Given the description of an element on the screen output the (x, y) to click on. 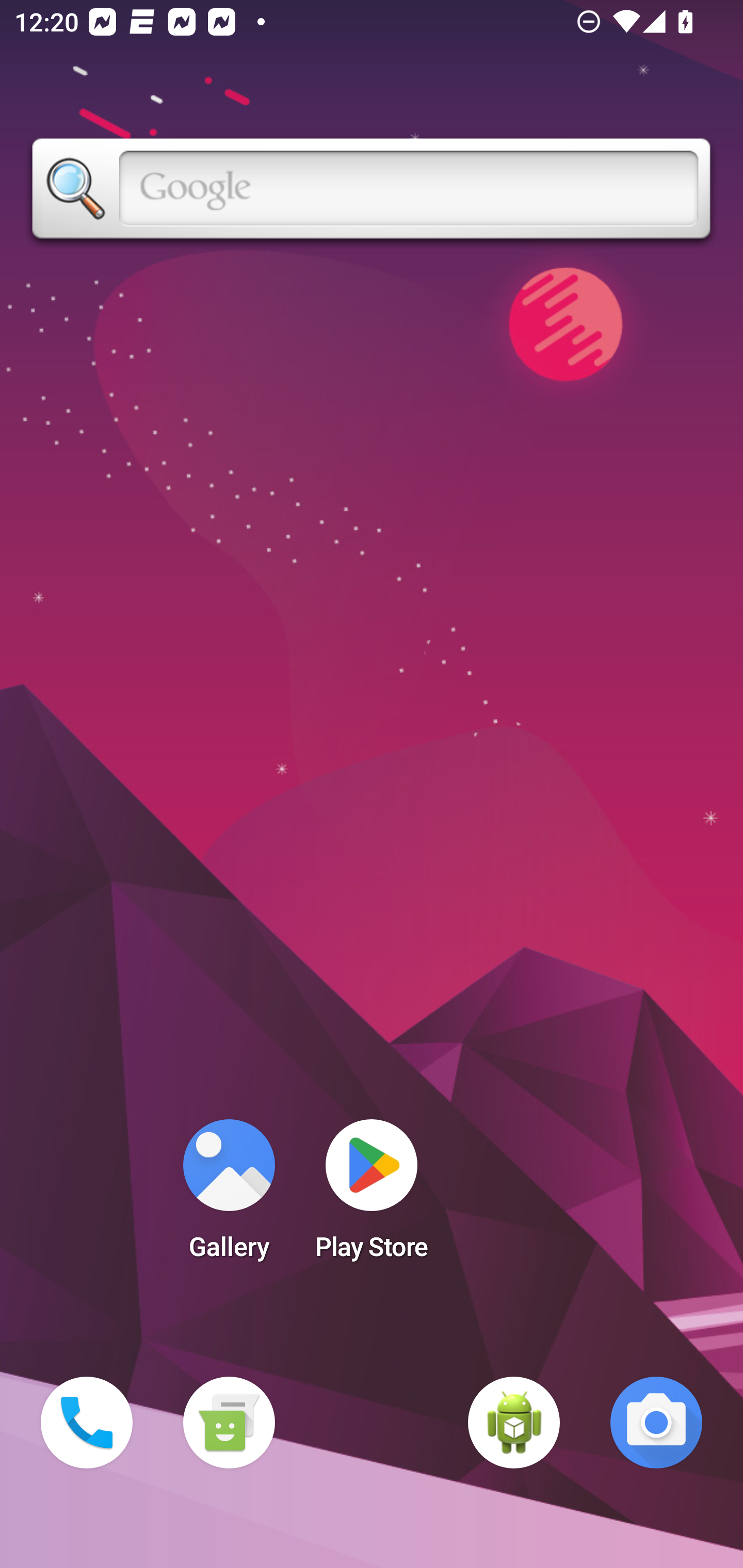
Gallery (228, 1195)
Play Store (371, 1195)
Phone (86, 1422)
Messaging (228, 1422)
WebView Browser Tester (513, 1422)
Camera (656, 1422)
